Given the description of an element on the screen output the (x, y) to click on. 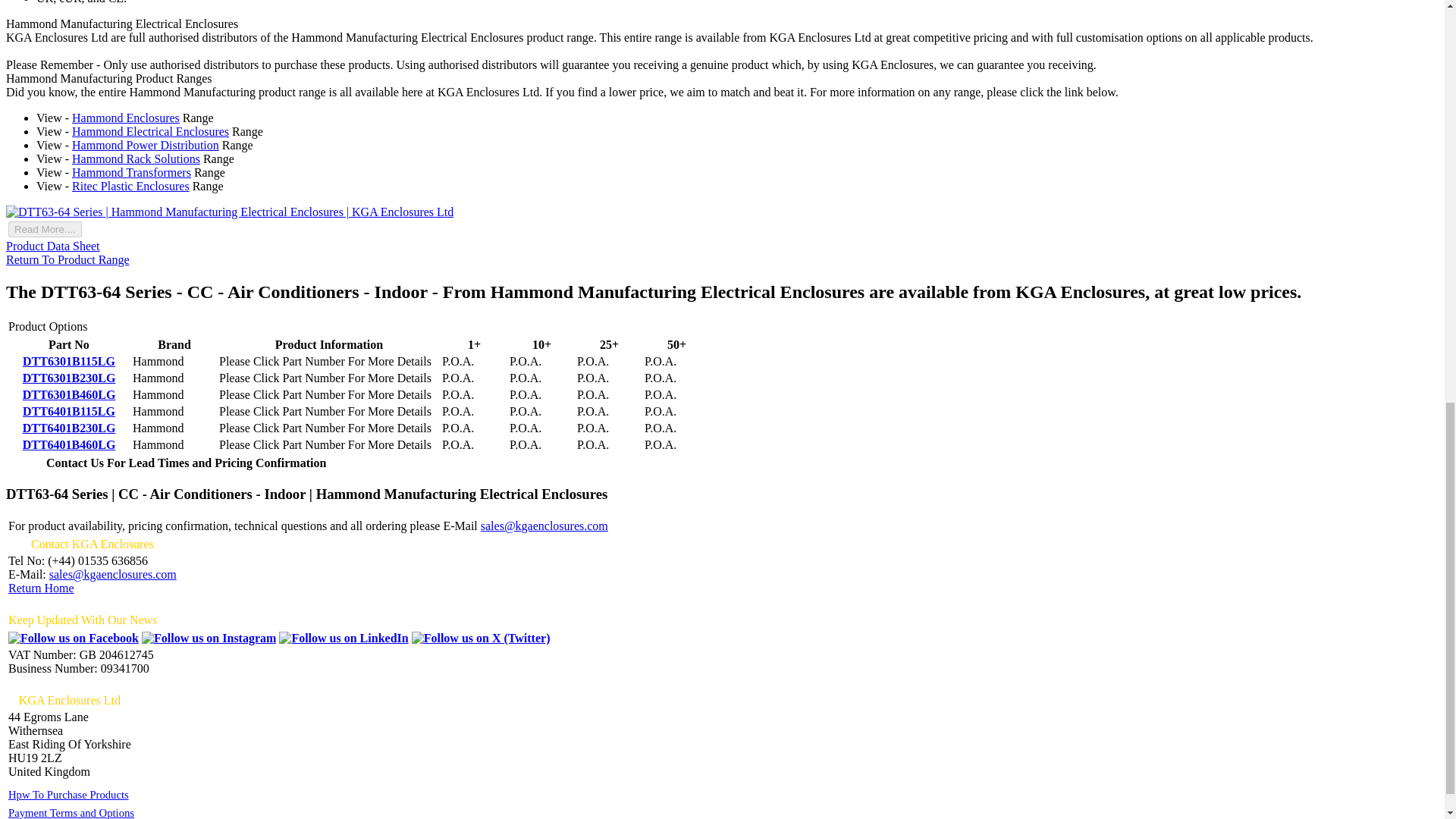
Hammond Power Distribution (145, 144)
Hammond Electrical Enclosures (149, 131)
Hammond Transformers (130, 172)
Hammond Rack Solutions (135, 158)
Hammond Enclosures (125, 117)
